Given the description of an element on the screen output the (x, y) to click on. 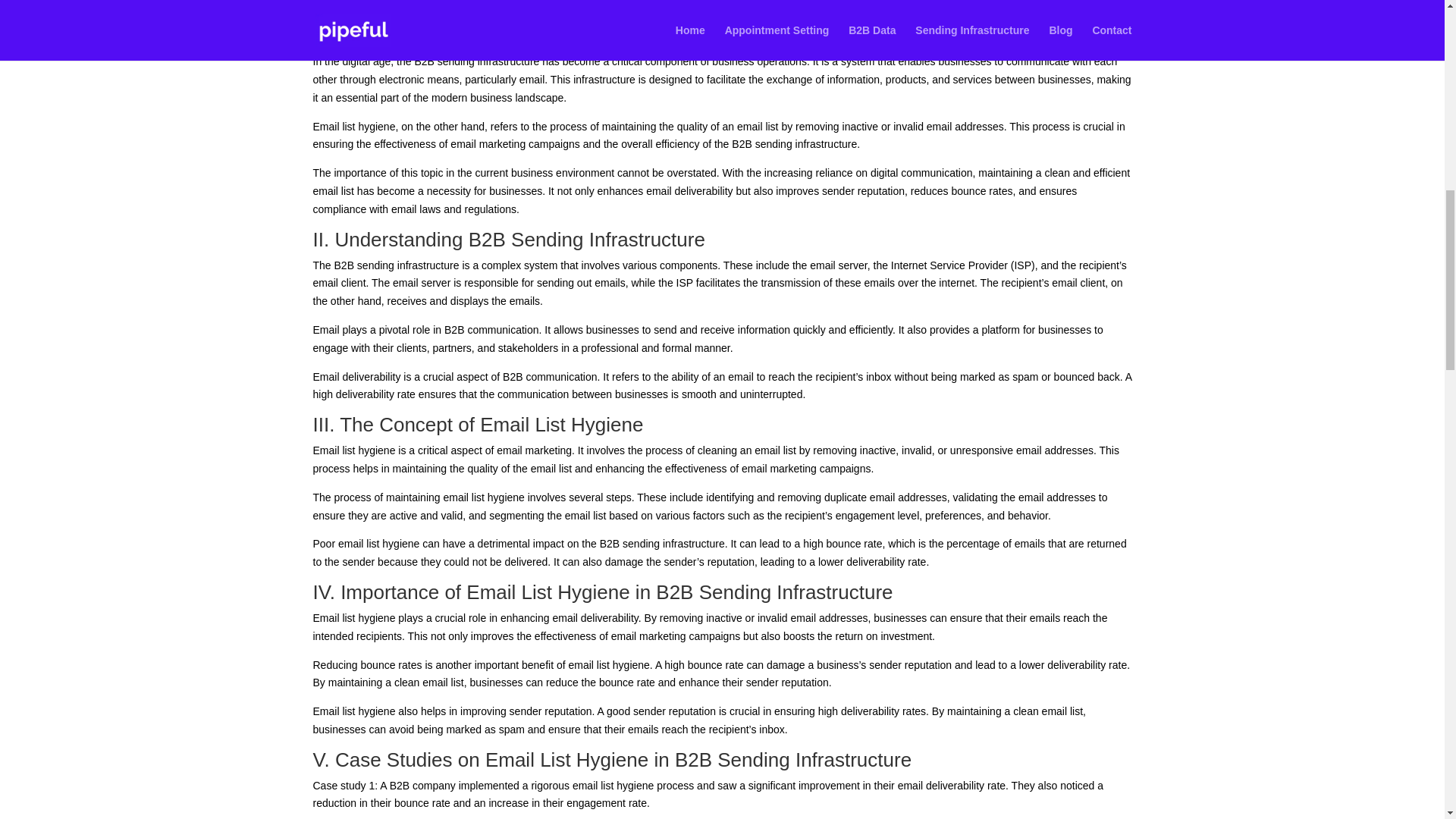
VII. Conclusion (359, 3)
VII. Conclusion (359, 3)
